Given the description of an element on the screen output the (x, y) to click on. 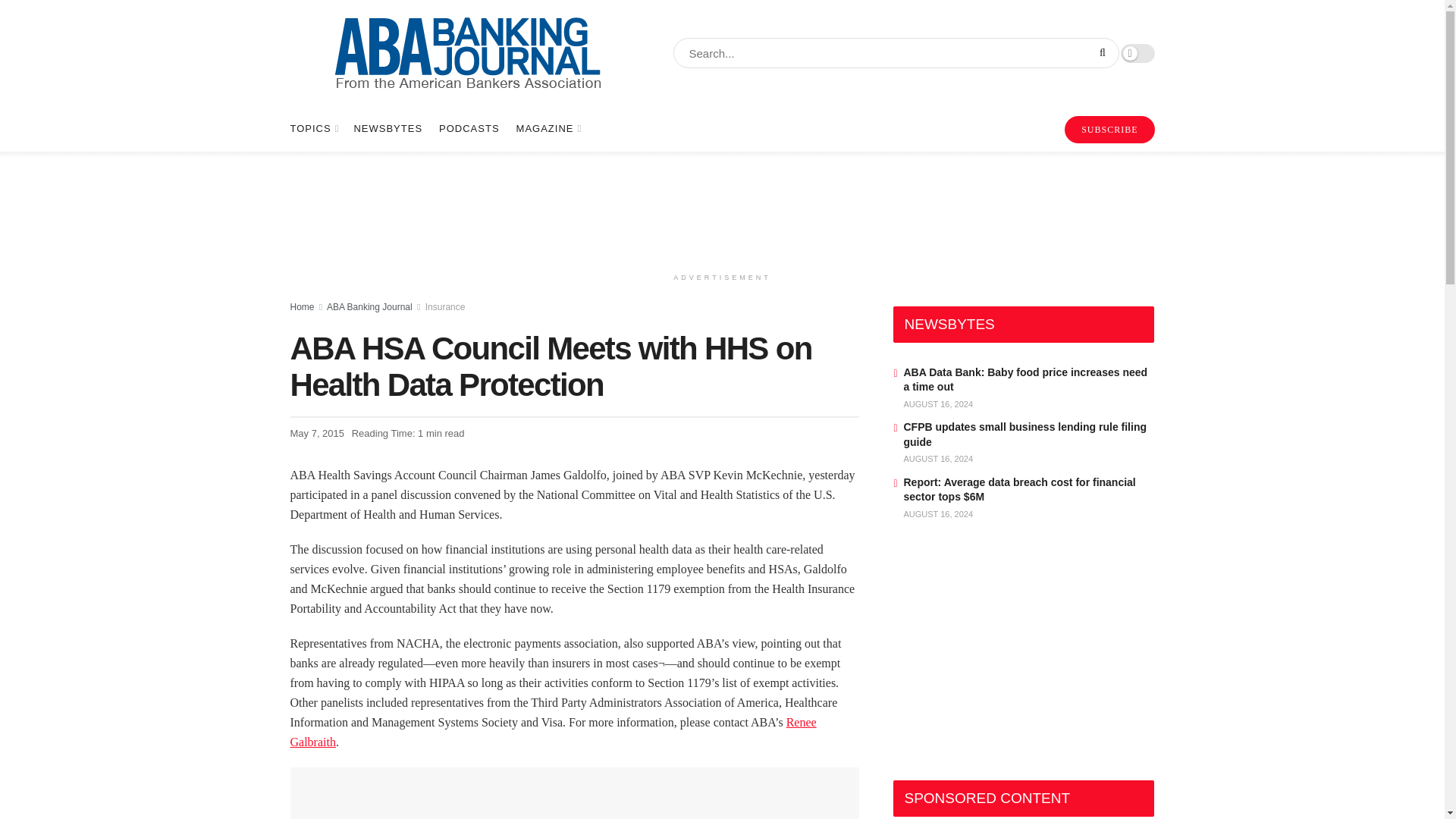
SUBSCRIBE (1109, 129)
PODCASTS (469, 128)
3rd party ad content (1007, 655)
TOPICS (312, 128)
NEWSBYTES (387, 128)
MAGAZINE (547, 128)
3rd party ad content (574, 796)
3rd party ad content (721, 208)
